Given the description of an element on the screen output the (x, y) to click on. 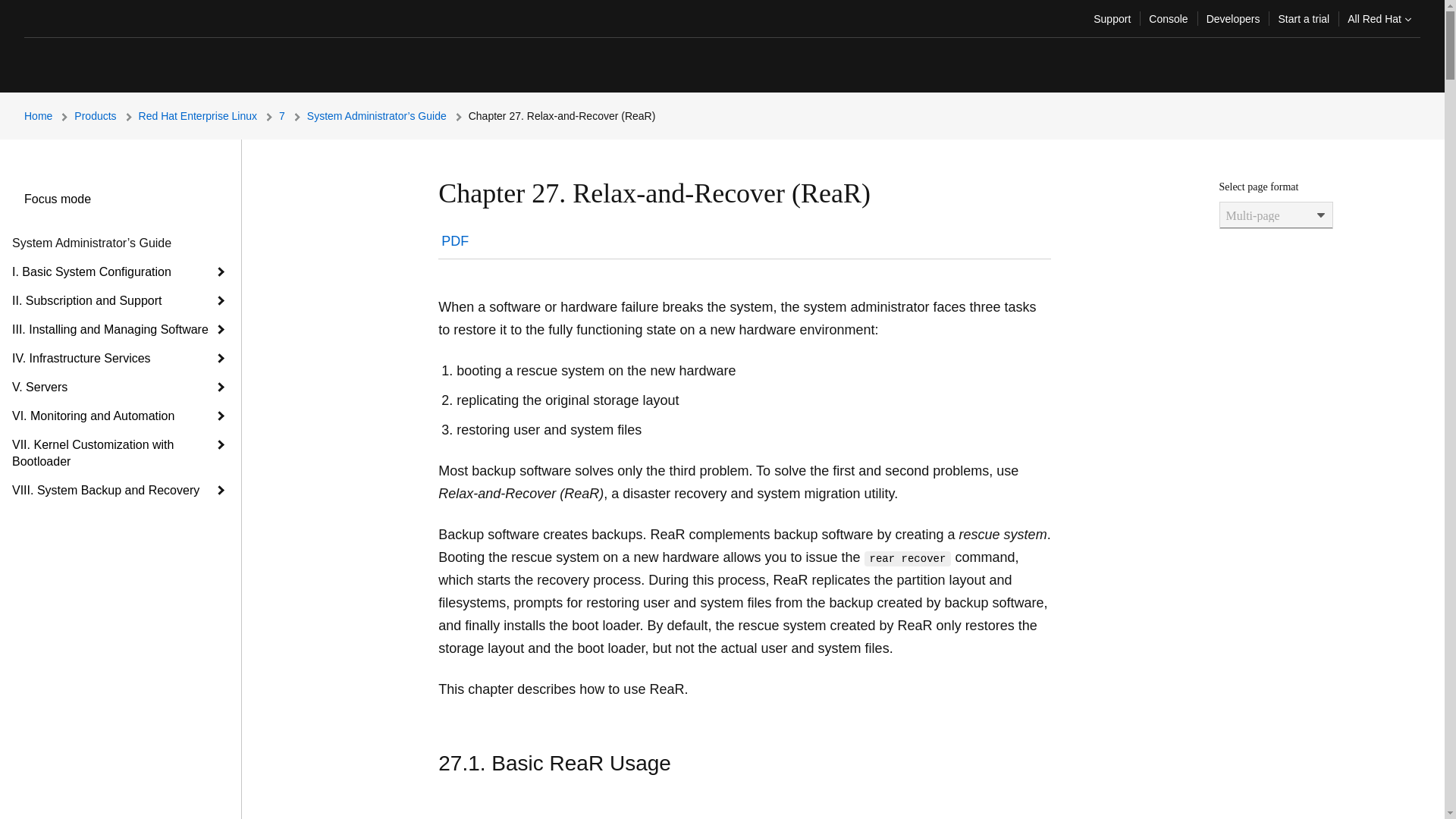
7 (293, 115)
Console (1168, 18)
Red Hat Enterprise Linux (208, 115)
Developers (1232, 18)
All Red Hat (1379, 18)
Start a trial (1303, 18)
Support (1112, 18)
Home (49, 115)
Products (106, 115)
